Given the description of an element on the screen output the (x, y) to click on. 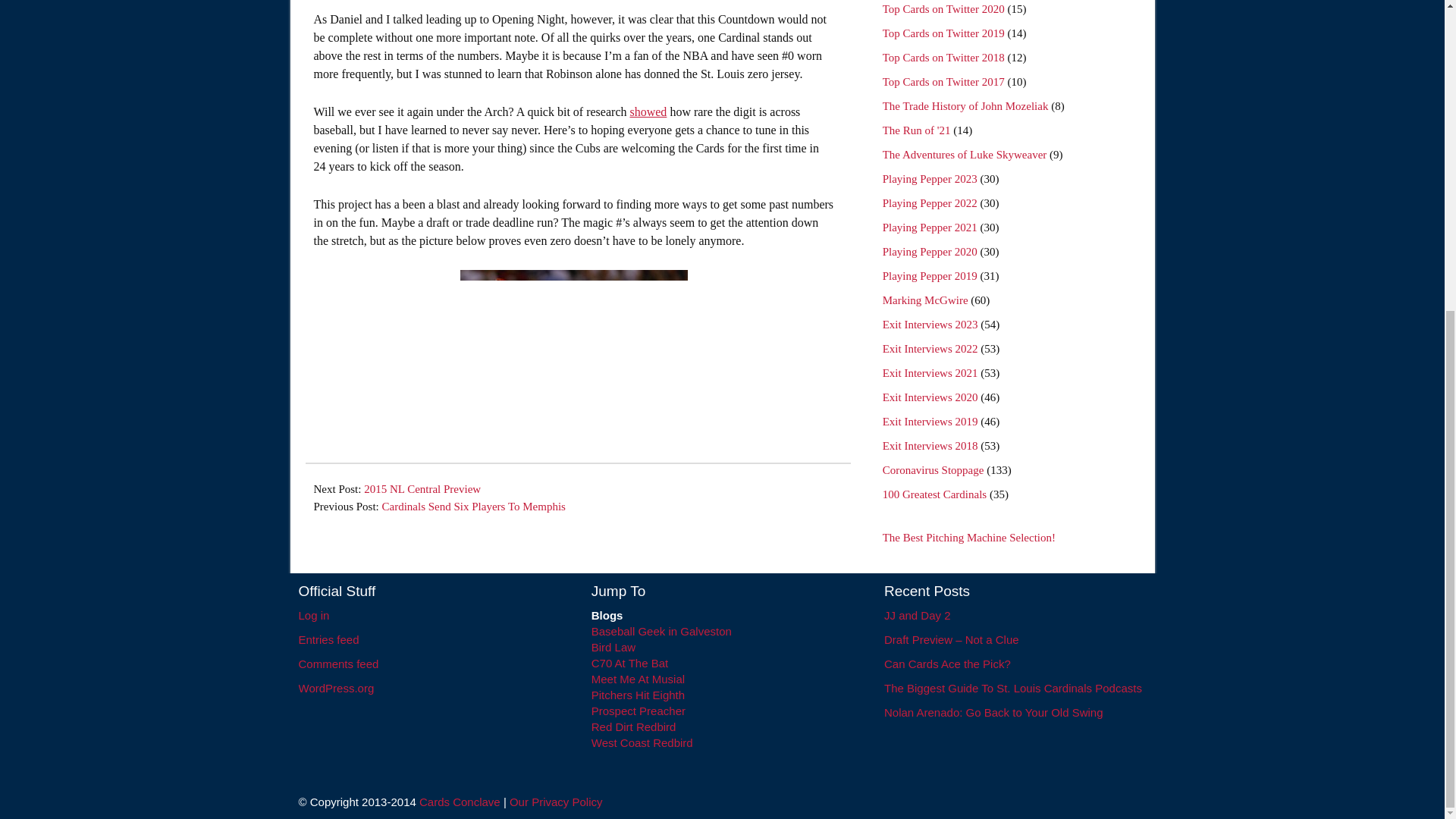
showed (647, 111)
